Given the description of an element on the screen output the (x, y) to click on. 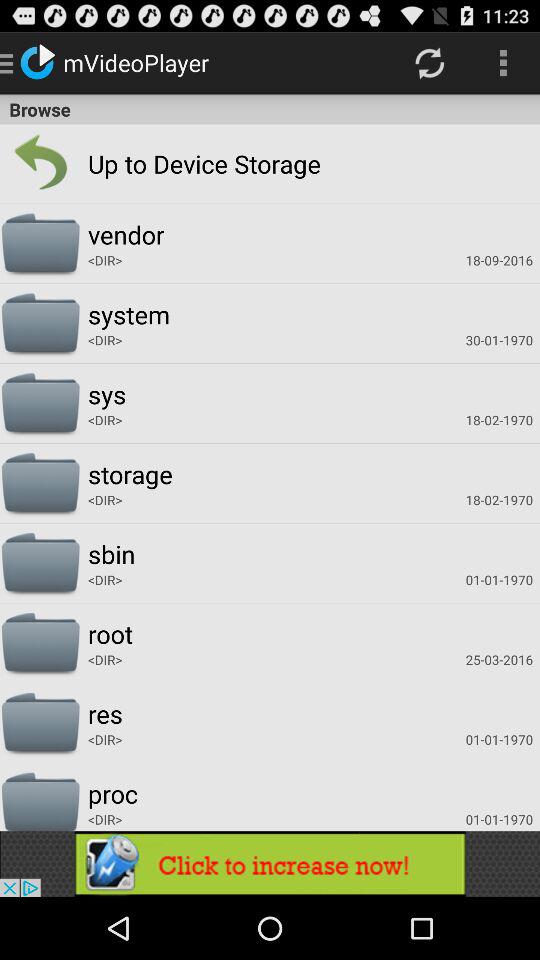
press the app above the browse icon (429, 62)
